Given the description of an element on the screen output the (x, y) to click on. 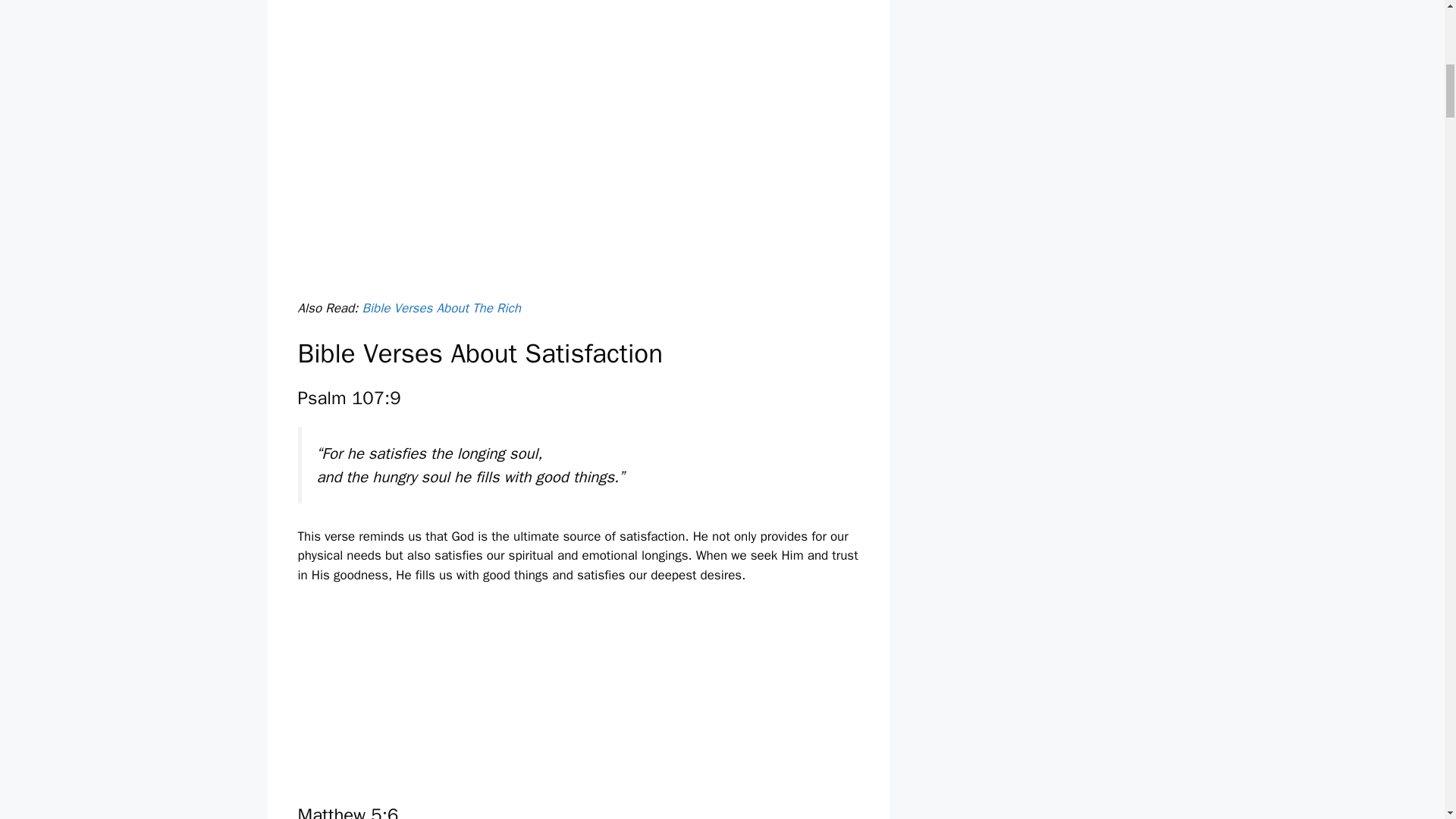
Bible Verses About The Rich (440, 308)
